Given the description of an element on the screen output the (x, y) to click on. 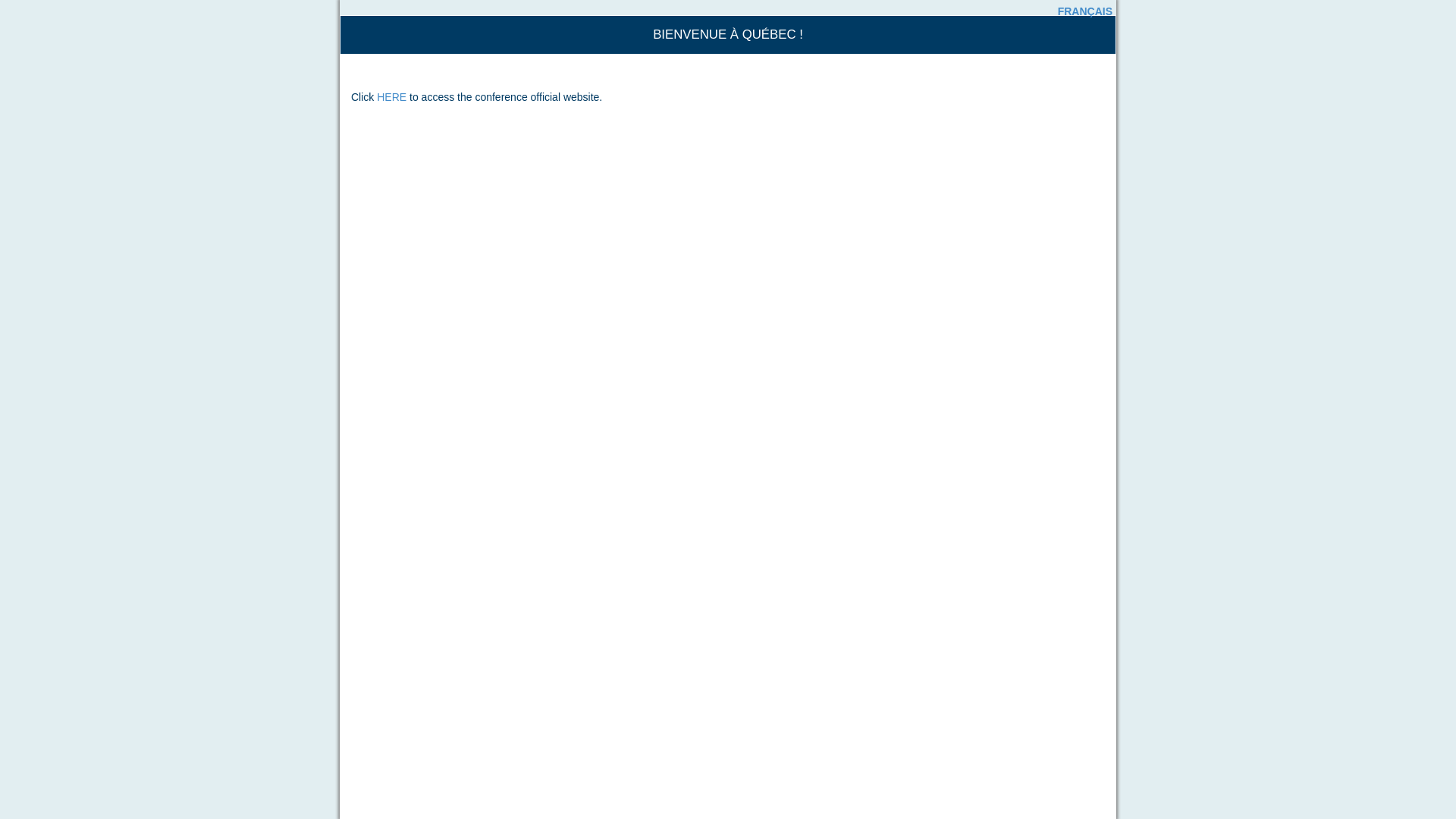
HERE Element type: text (391, 97)
